Given the description of an element on the screen output the (x, y) to click on. 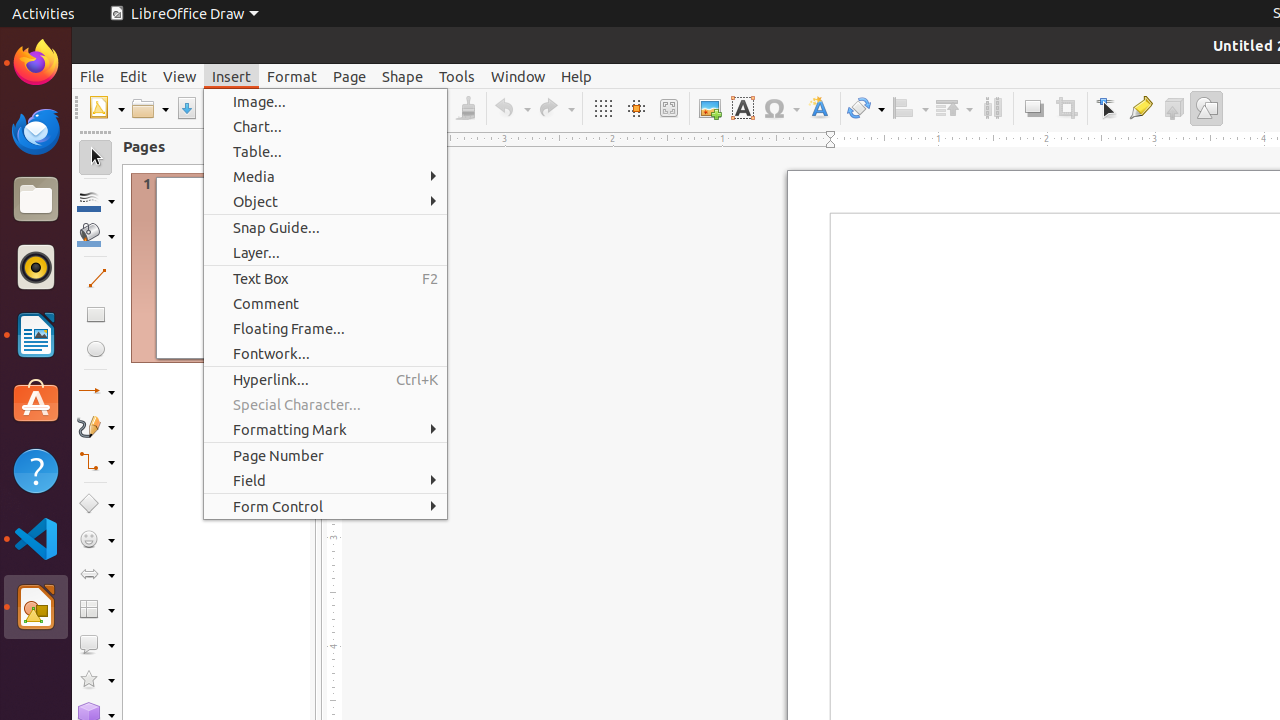
Edit Element type: menu (133, 76)
New Element type: push-button (106, 108)
Image... Element type: menu-item (325, 101)
Arrow Shapes Element type: push-button (96, 574)
Shadow Element type: toggle-button (1033, 108)
